Given the description of an element on the screen output the (x, y) to click on. 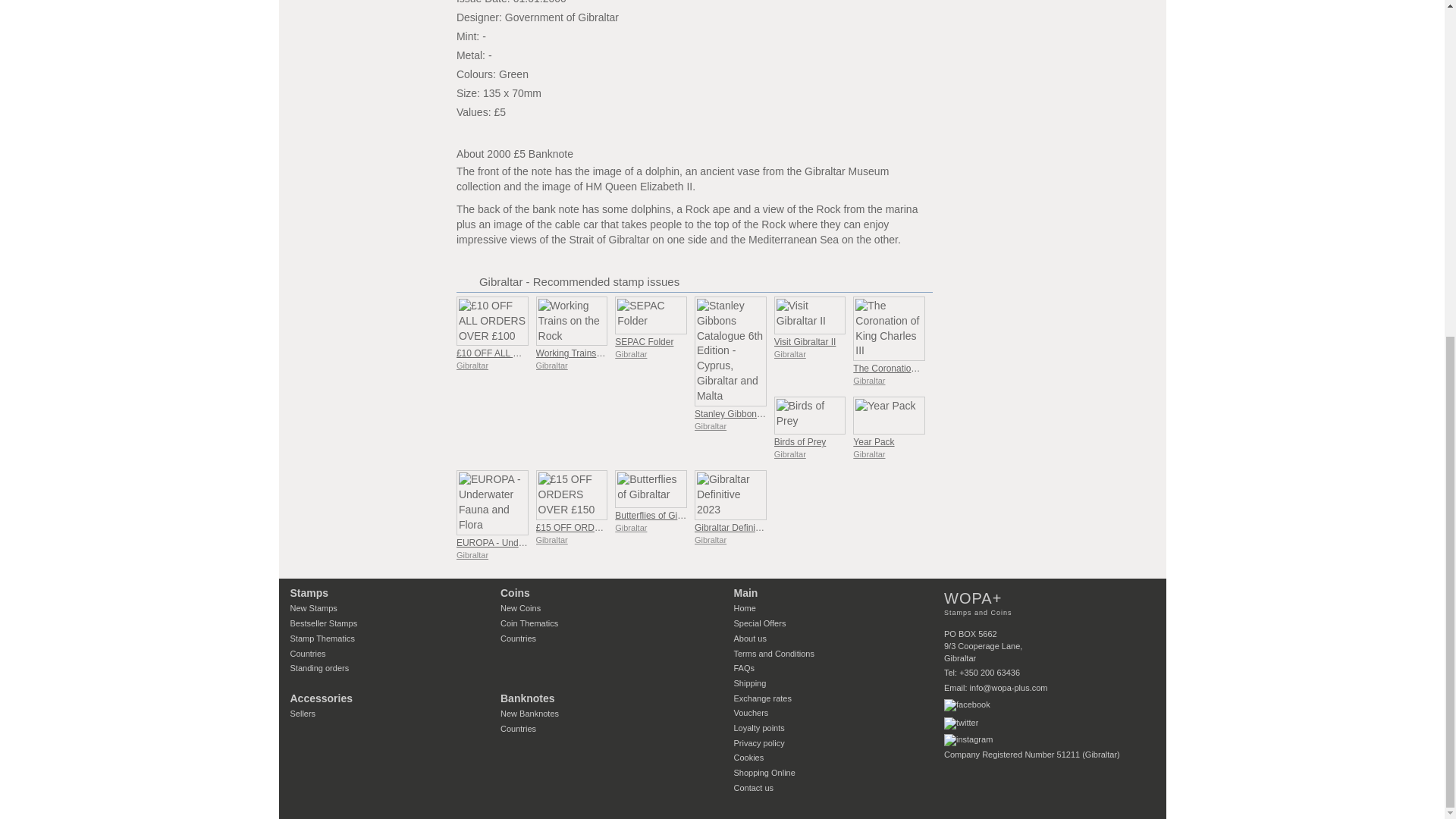
Gibraltar (472, 365)
Working Trains on the Rock (591, 353)
SEPAC Folder (643, 341)
Gibraltar (551, 365)
SEPAC Folder (650, 315)
Working Trains on the Rock (571, 321)
